Given the description of an element on the screen output the (x, y) to click on. 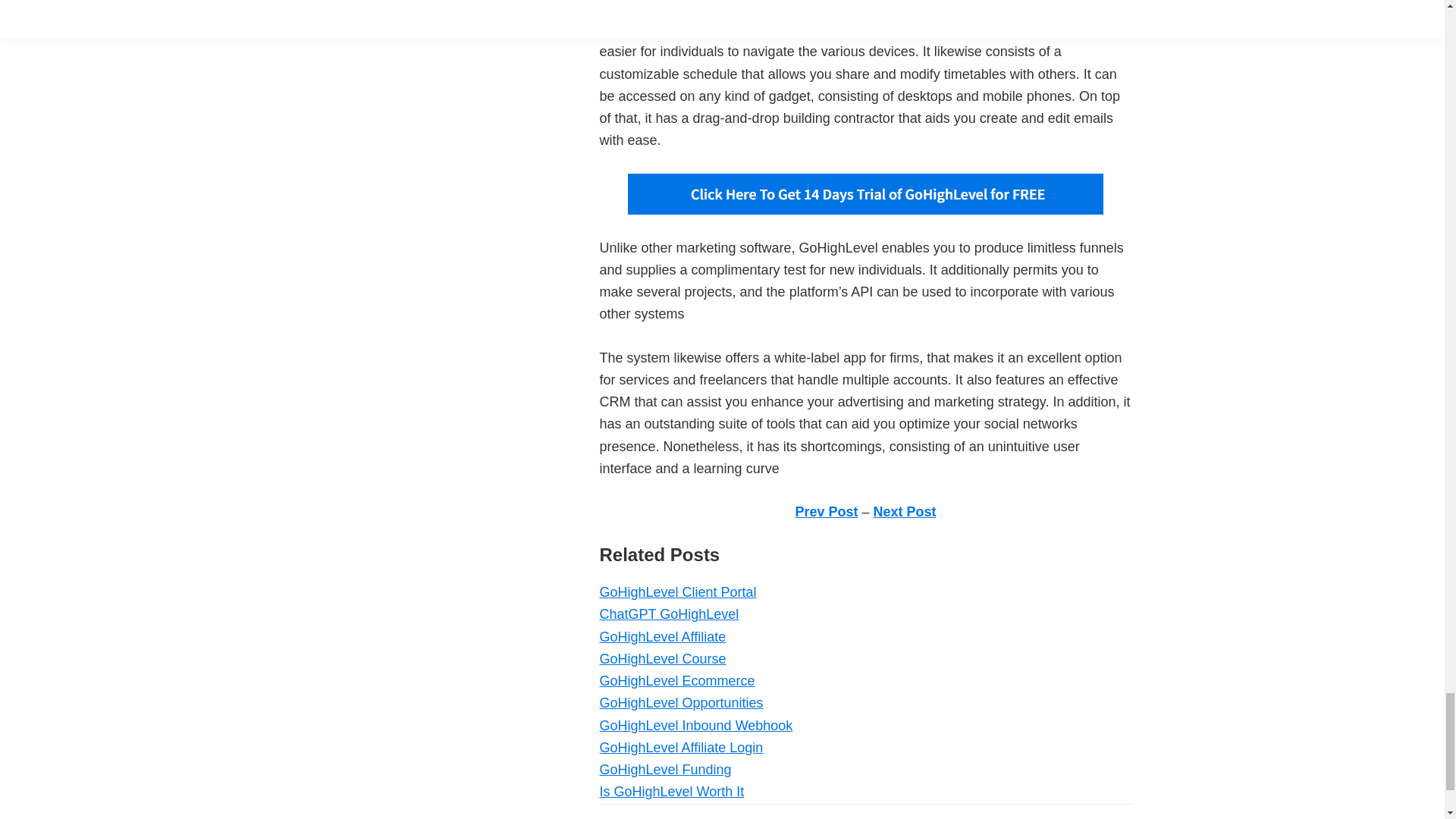
GoHighLevel Inbound Webhook (695, 725)
GoHighLevel Funding (664, 769)
GoHighLevel Affiliate (661, 636)
GoHighLevel Ecommerce (676, 680)
GoHighLevel Funding (664, 769)
GoHighLevel Course (661, 658)
GoHighLevel Opportunities (680, 702)
GoHighLevel Ecommerce (676, 680)
GoHighLevel Inbound Webhook (695, 725)
Is GoHighLevel Worth It (671, 791)
Prev Post (825, 511)
ChatGPT GoHighLevel (668, 613)
ChatGPT GoHighLevel (668, 613)
GoHighLevel Affiliate (661, 636)
GoHighLevel Affiliate Login (680, 747)
